Given the description of an element on the screen output the (x, y) to click on. 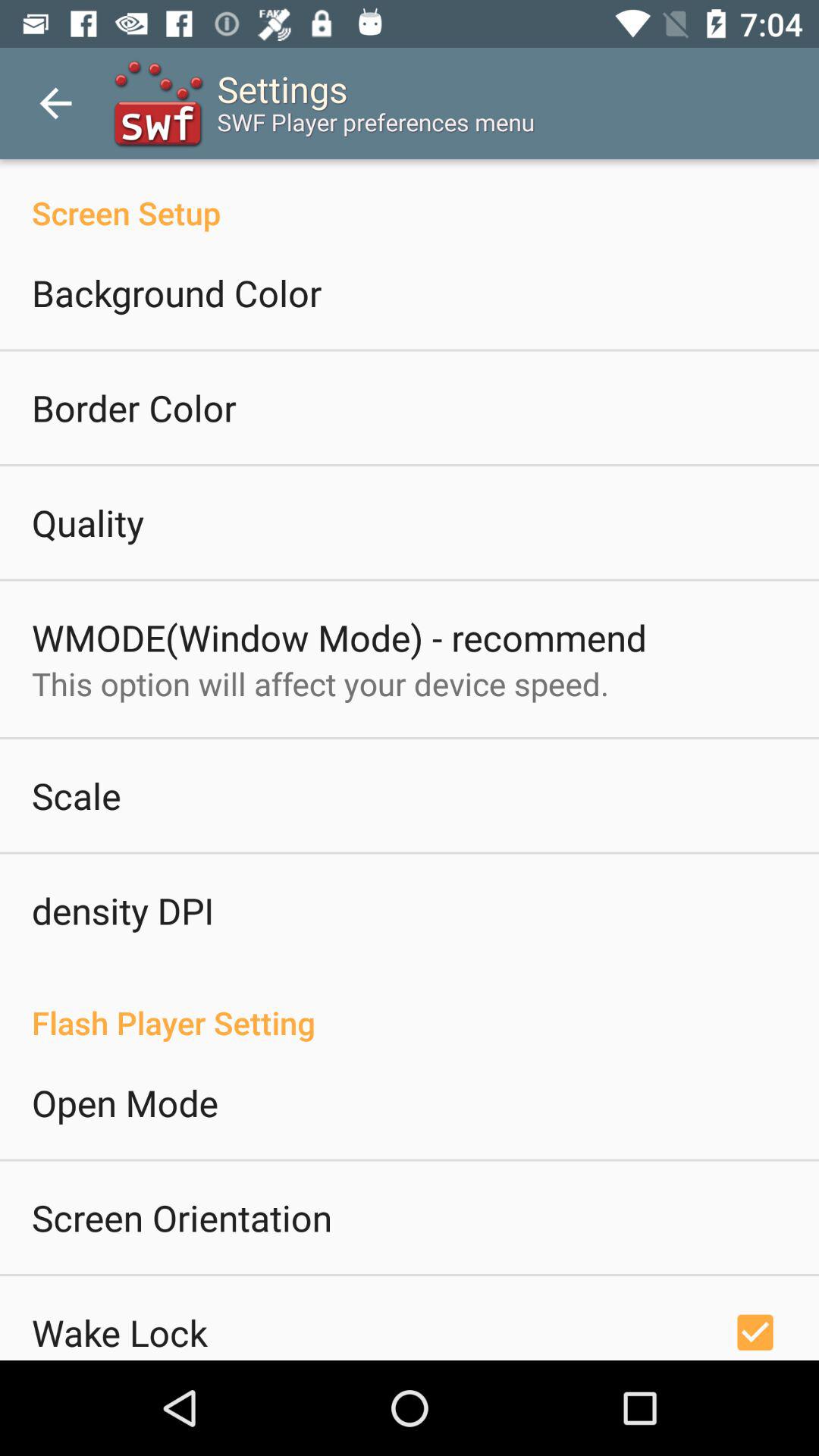
click the icon above scale (320, 683)
